Given the description of an element on the screen output the (x, y) to click on. 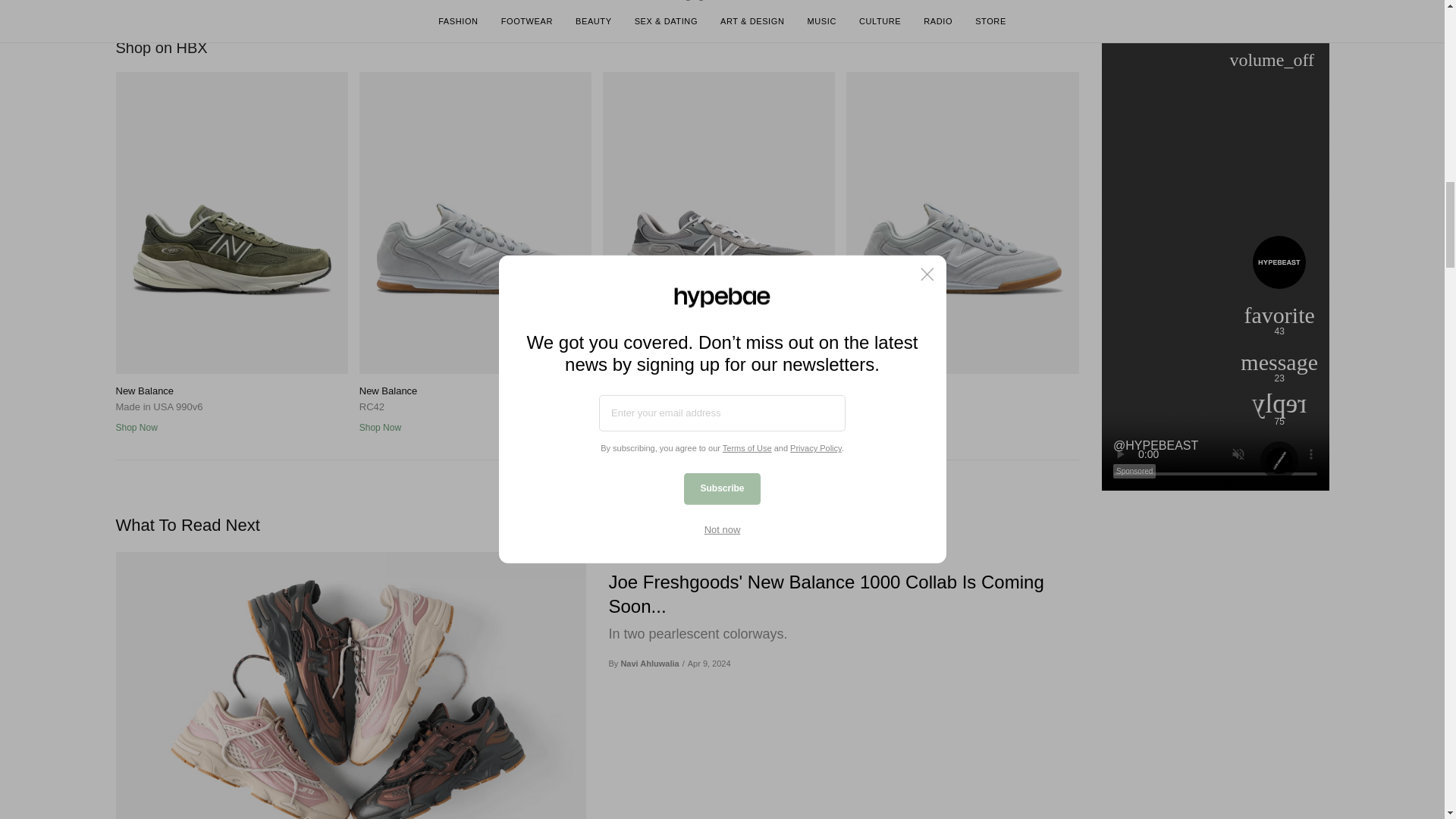
Joe Freshgoods' New Balance 1000 Collab Is Coming Soon... (350, 685)
Footwear (634, 557)
Joe Freshgoods' New Balance 1000 Collab Is Coming Soon... (843, 594)
